Given the description of an element on the screen output the (x, y) to click on. 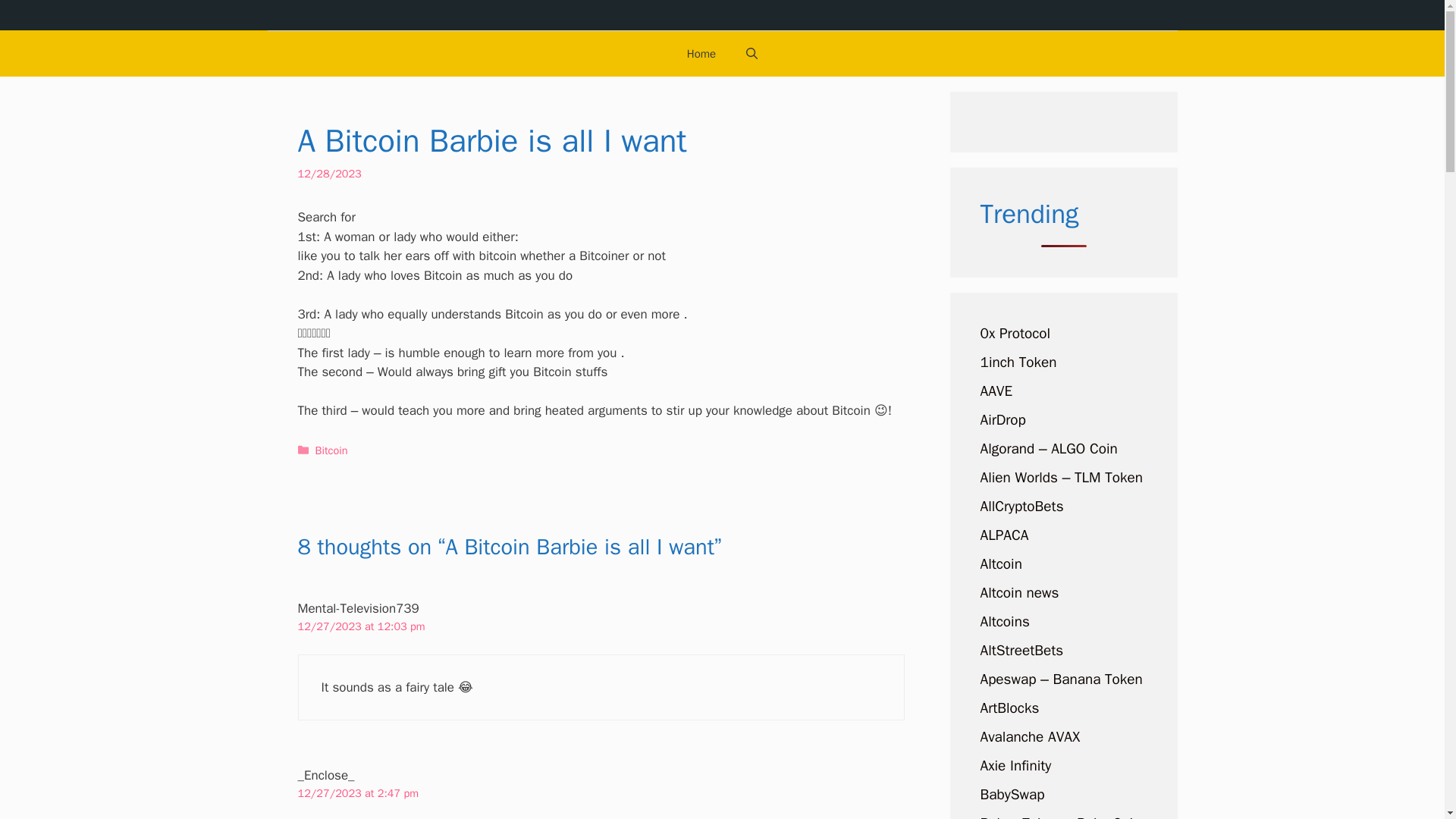
AltStreetBets (1020, 650)
1inch Token (1018, 361)
Axie Infinity (1015, 765)
Avalanche AVAX (1029, 737)
AllCryptoBets (1020, 506)
Home (700, 53)
0x Protocol (1014, 333)
BabySwap (1011, 794)
Altcoin (1000, 564)
ALPACA (1003, 535)
Altcoins (1004, 621)
ArtBlocks (1009, 708)
Altcoin news (1018, 592)
AirDrop (1002, 420)
AAVE (995, 391)
